Given the description of an element on the screen output the (x, y) to click on. 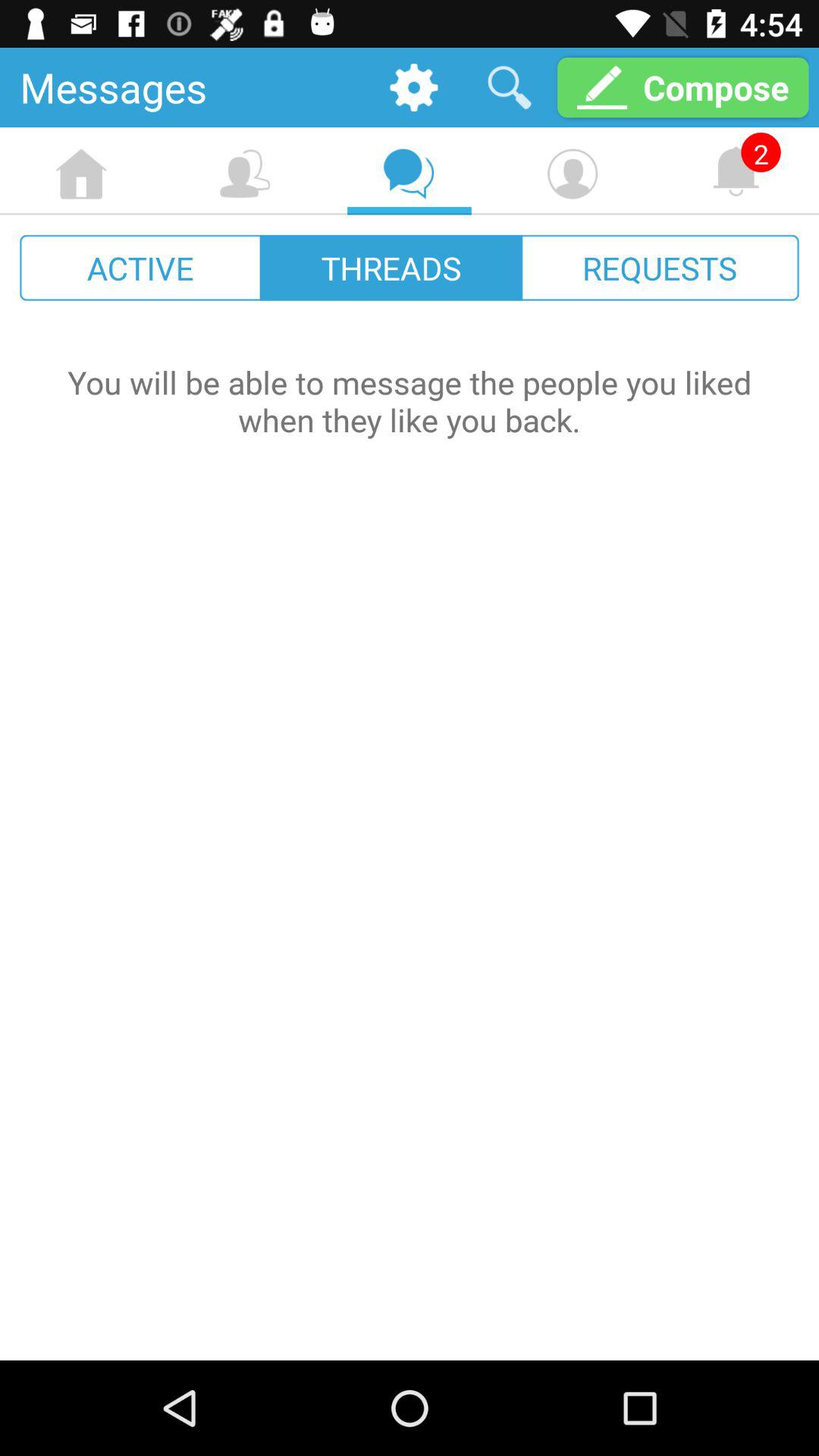
launch the item to the left of requests (390, 267)
